Given the description of an element on the screen output the (x, y) to click on. 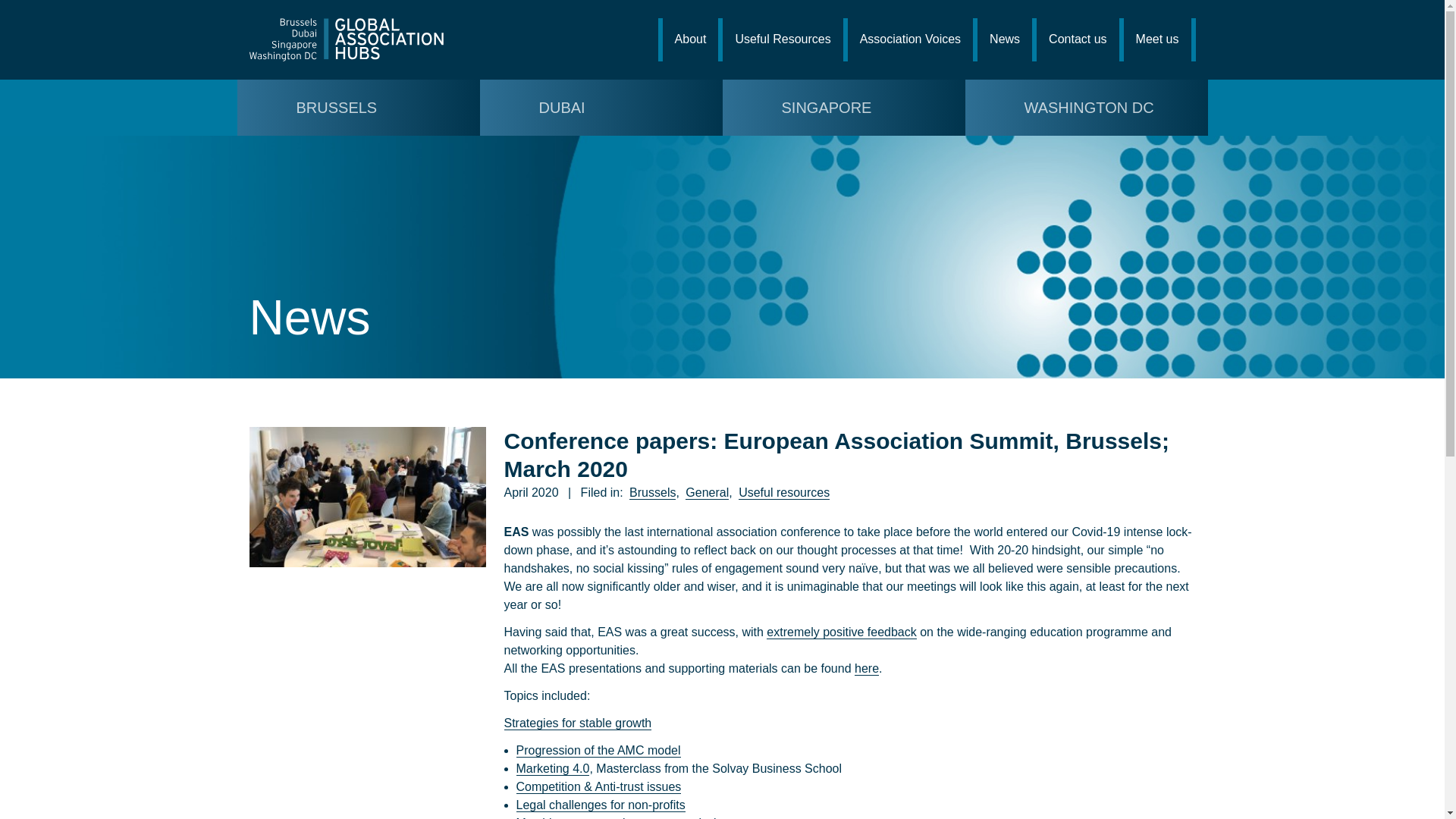
Matching your meetings to your mission (622, 817)
Association Voices (909, 39)
Marketing 4.0 (552, 768)
Contact us (1077, 39)
General (707, 492)
here (866, 668)
Useful Resources (782, 39)
About (690, 39)
Legal challenges for non-profits (599, 805)
Useful resources (783, 492)
extremely positive feedback (841, 632)
Progression of the AMC model (597, 750)
Strategies for stable growth (576, 723)
Meet us (1157, 39)
News (1004, 39)
